Given the description of an element on the screen output the (x, y) to click on. 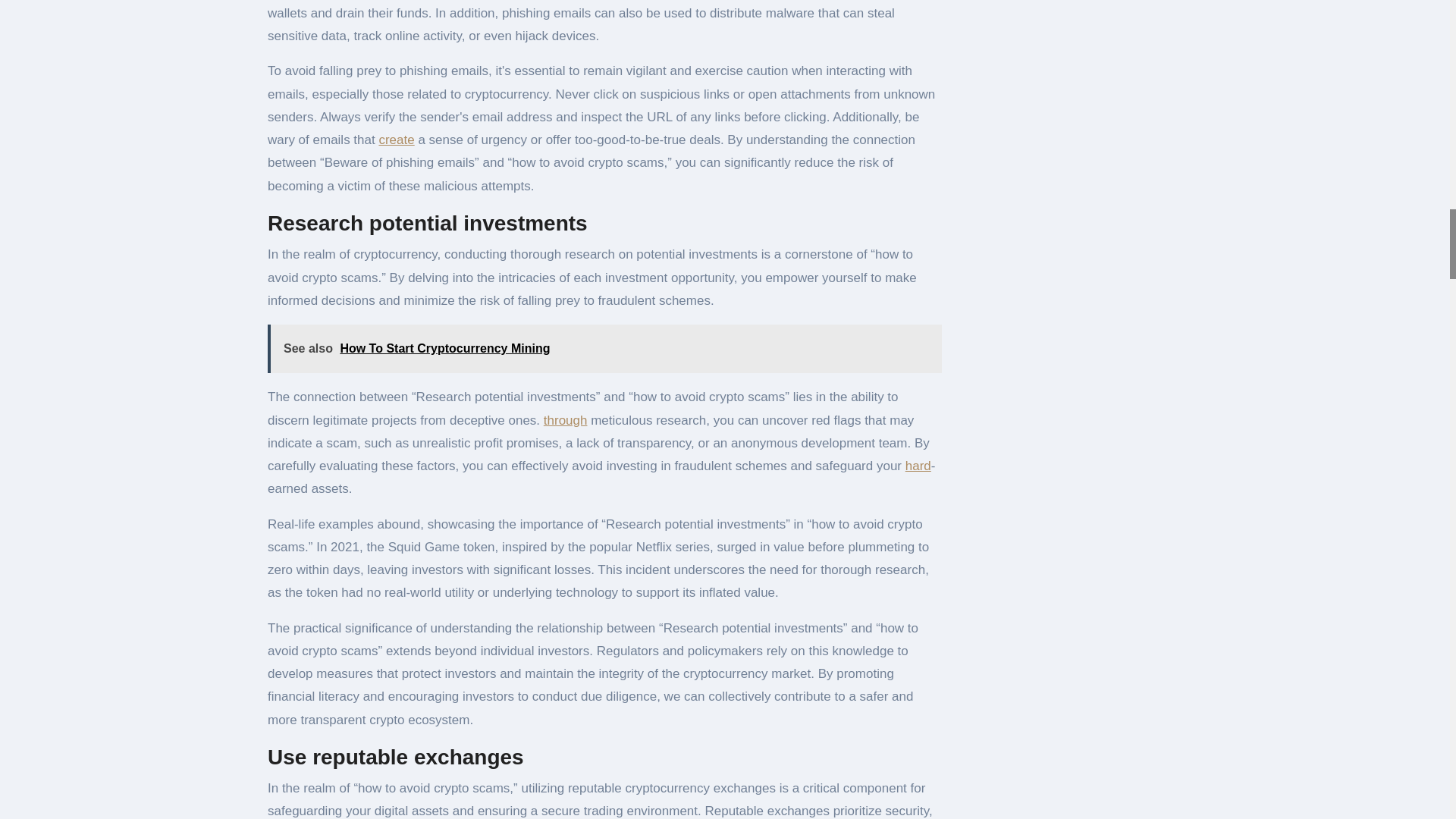
Posts tagged with hard (918, 465)
Posts tagged with create (395, 139)
create (395, 139)
Posts tagged with through (565, 420)
